Given the description of an element on the screen output the (x, y) to click on. 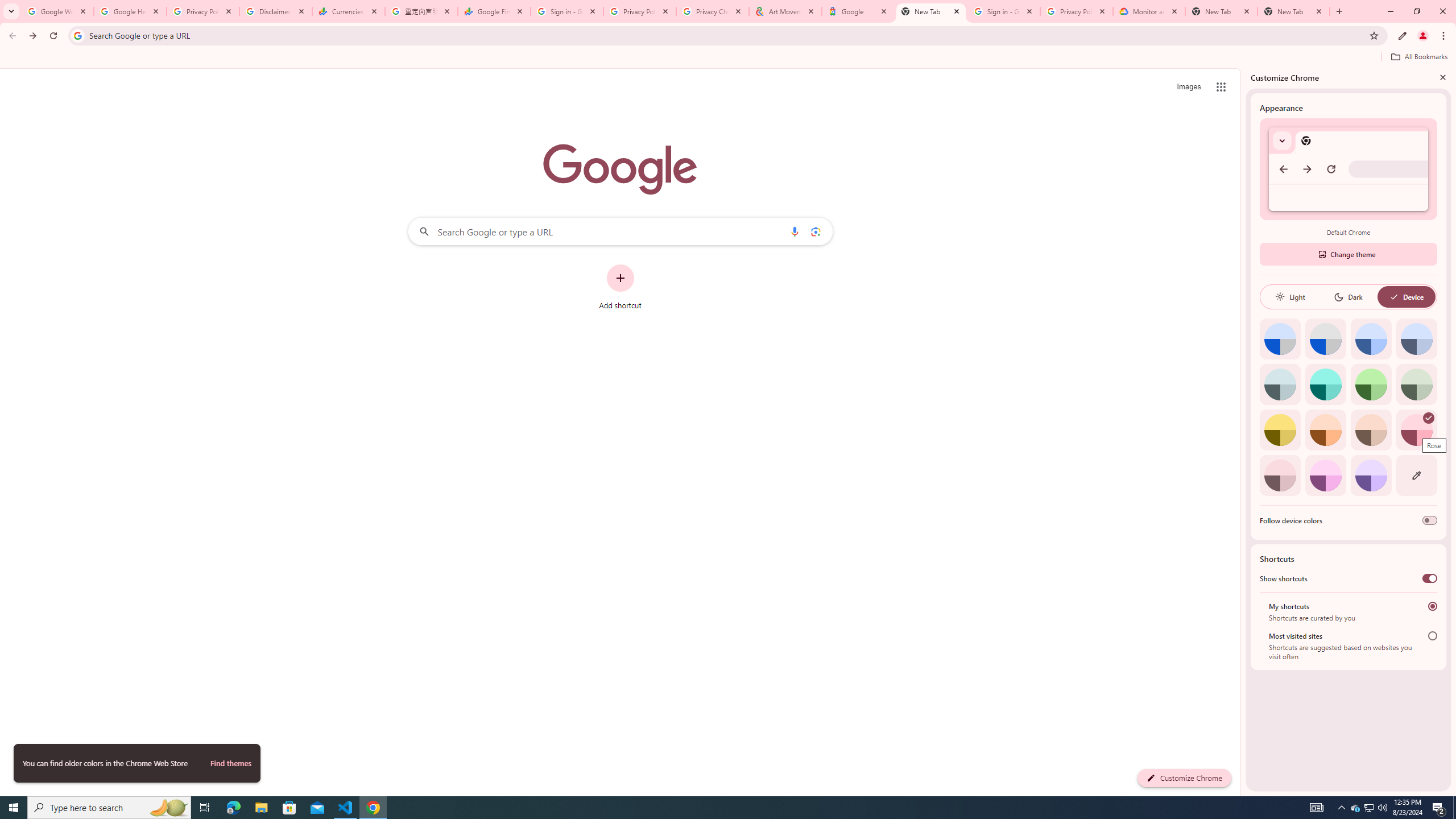
Most visited sites (1432, 635)
Side Panel Resize Handle (1242, 431)
Apricot (1371, 429)
Default Chrome (1348, 169)
Violet (1371, 475)
Show shortcuts (1429, 578)
Grey (1279, 383)
Sign in - Google Accounts (1003, 11)
Rose (1416, 429)
Pink (1279, 475)
